Given the description of an element on the screen output the (x, y) to click on. 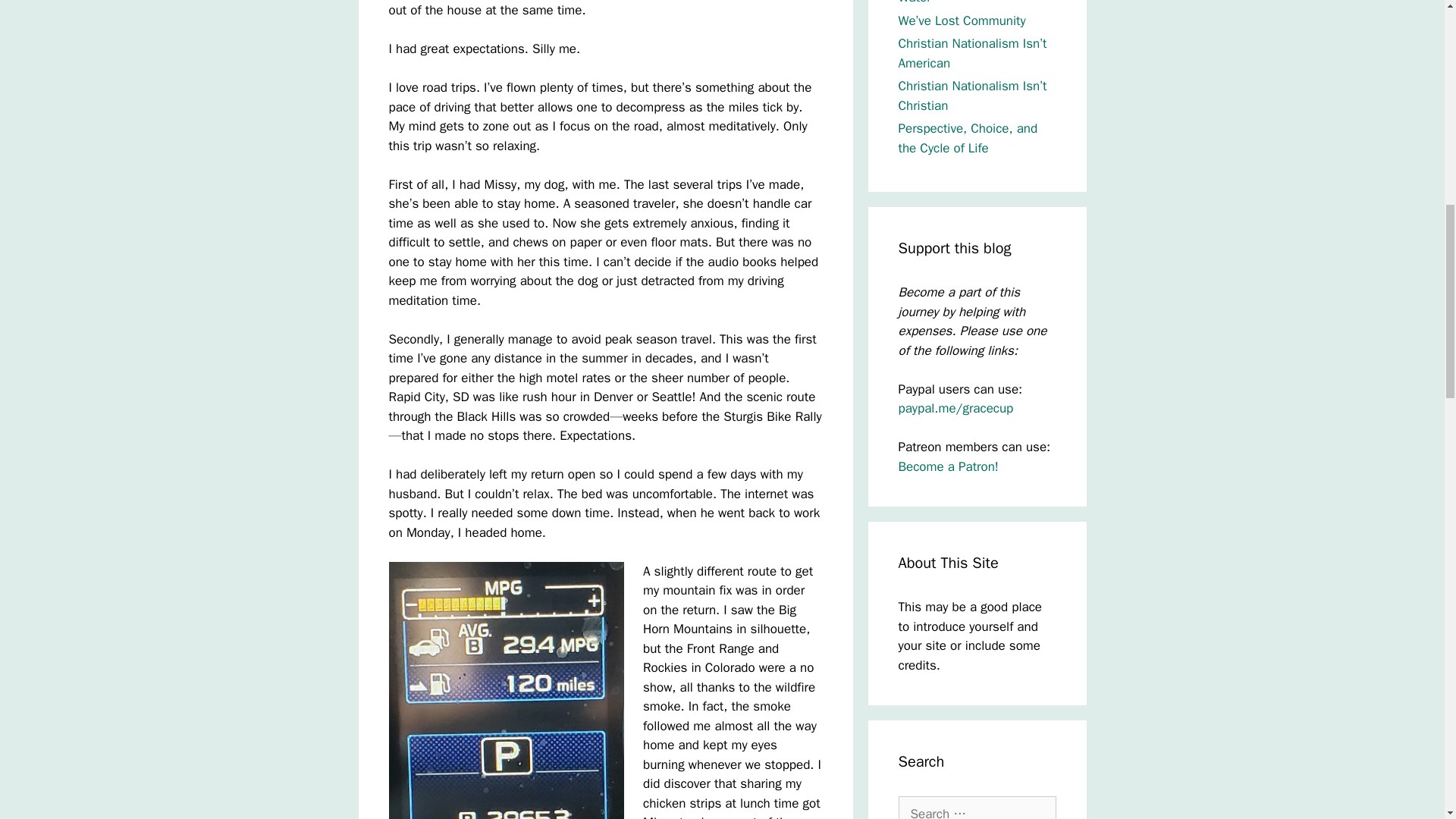
Search for: (976, 807)
Keeping Your Head Above Water (970, 2)
Become a Patron! (947, 465)
Perspective, Choice, and the Cycle of Life (967, 138)
